Given the description of an element on the screen output the (x, y) to click on. 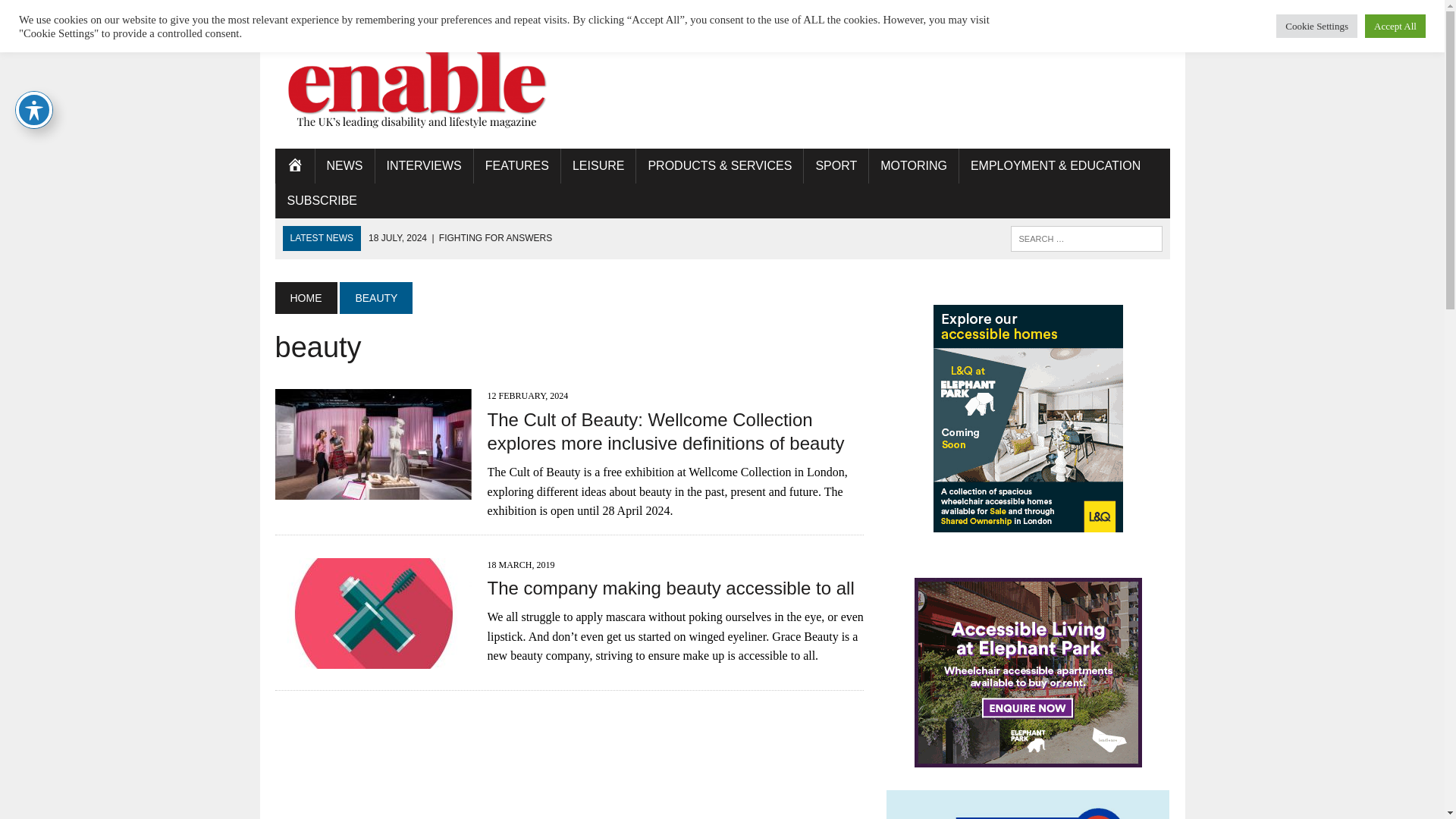
Follow us on Facebook (1102, 10)
WIN (474, 12)
ABOUT US (418, 12)
MOTORING (913, 165)
Follow us on Twitter (1129, 10)
HOME (294, 165)
LEISURE (597, 165)
The company making beauty accessible to all (669, 588)
CONTACT (678, 12)
SUBSCRIBE (322, 200)
HOME (305, 297)
Home (294, 165)
The company making beauty accessible to all (373, 658)
Enable Magazine (416, 86)
